Given the description of an element on the screen output the (x, y) to click on. 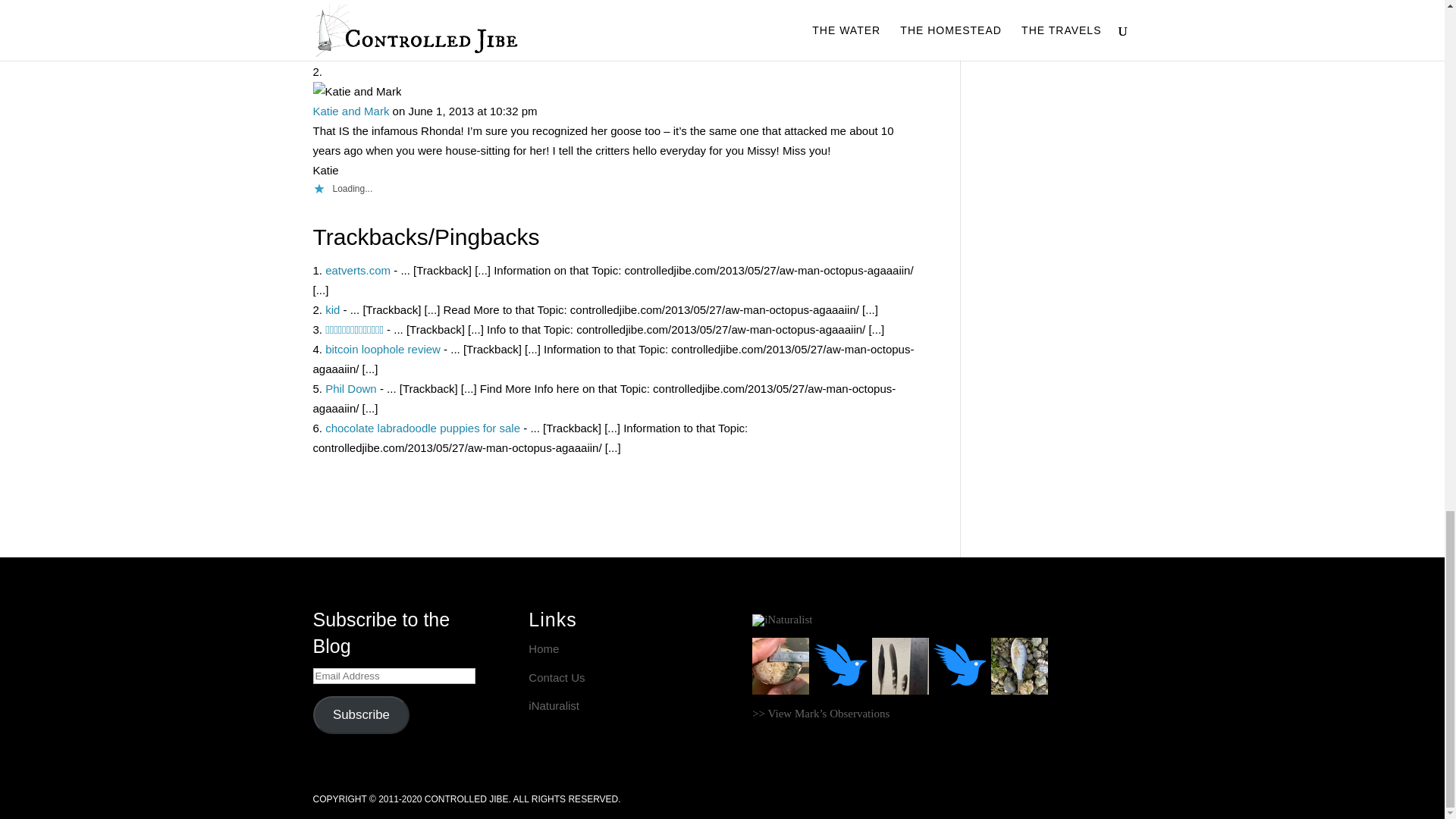
kid (331, 309)
Home (543, 648)
chocolate labradoodle puppies for sale (421, 427)
eatverts.com (357, 269)
Contact Us (556, 676)
iNaturalist (553, 705)
